Given the description of an element on the screen output the (x, y) to click on. 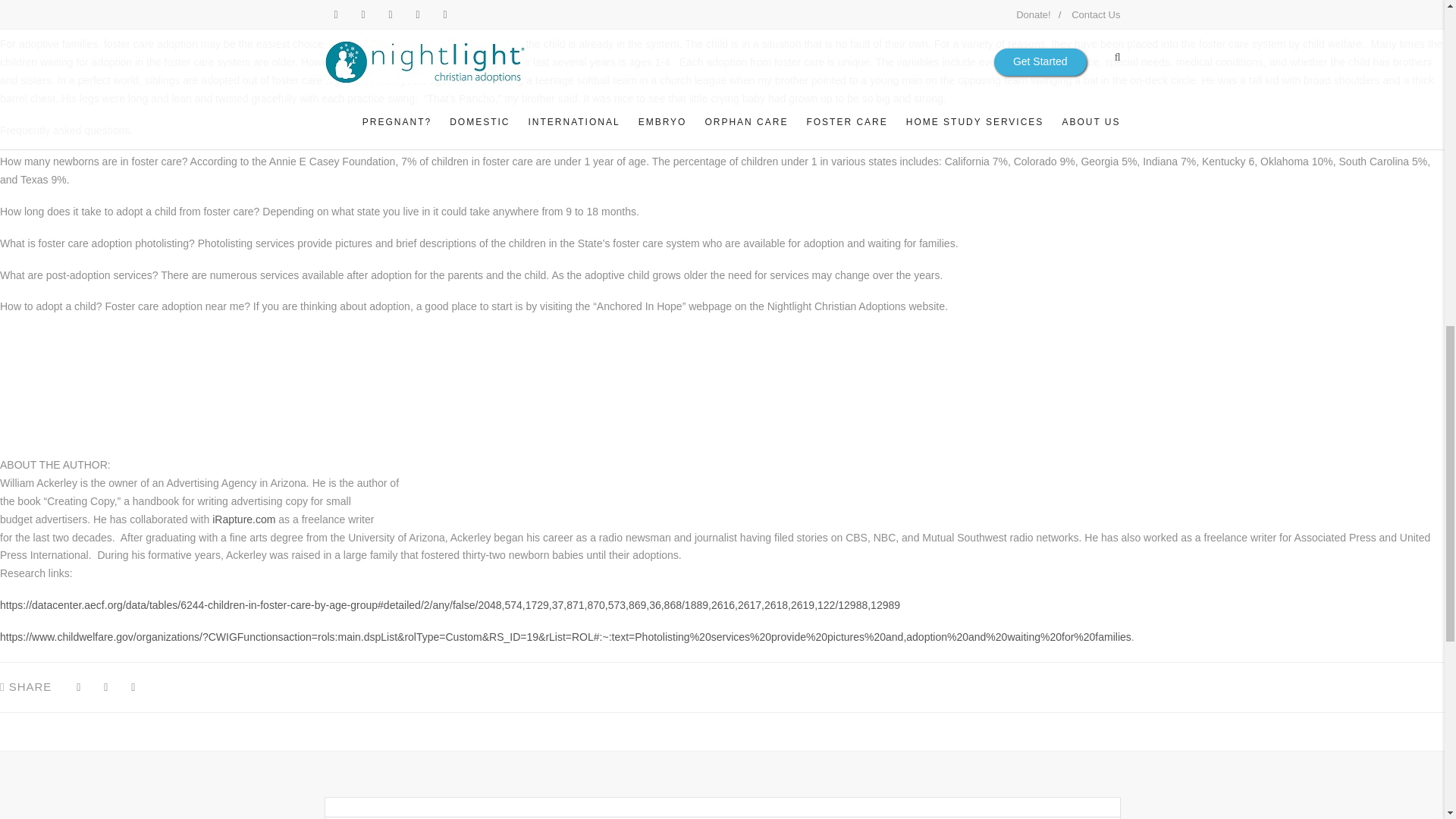
Next (825, 137)
Share on Facebook (77, 687)
Email (132, 687)
Tweet (105, 687)
